Given the description of an element on the screen output the (x, y) to click on. 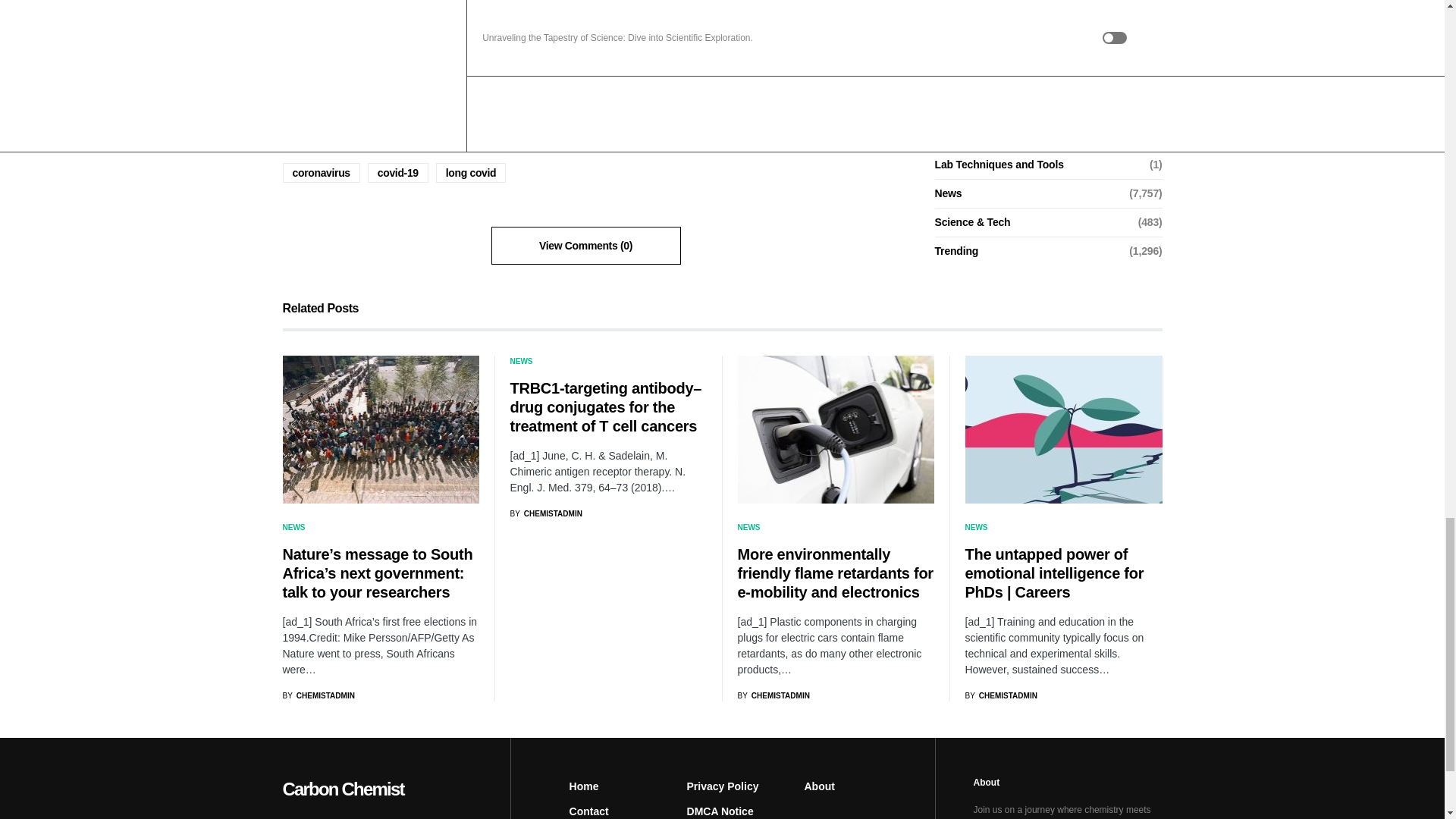
View all posts by chemistadmin (999, 695)
View all posts by chemistadmin (544, 513)
View all posts by chemistadmin (772, 695)
View all posts by chemistadmin (317, 695)
